Given the description of an element on the screen output the (x, y) to click on. 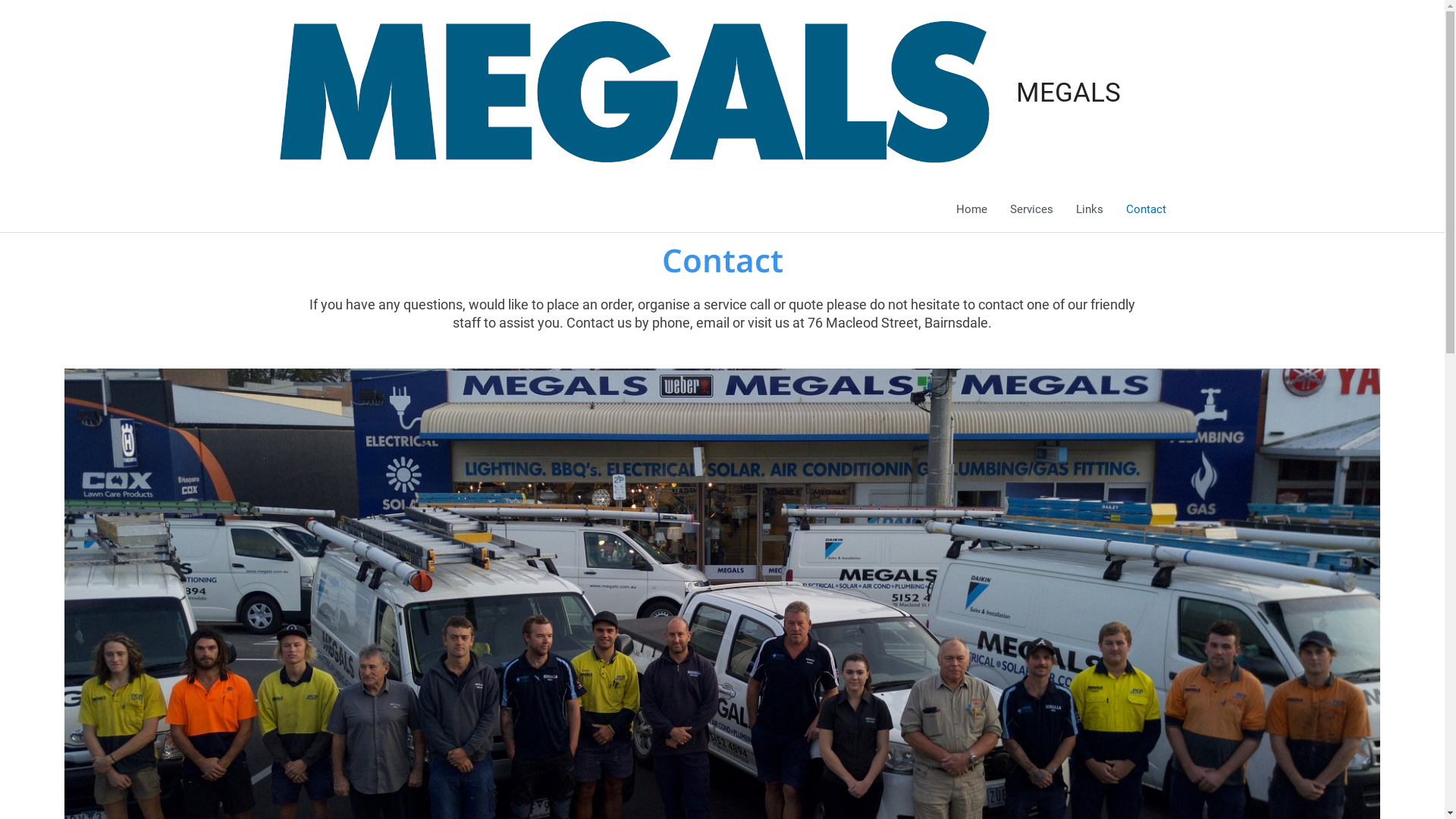
Links Element type: text (1089, 209)
Home Element type: text (971, 209)
Services Element type: text (1030, 209)
MEGALS Element type: text (1068, 92)
Contact Element type: text (1145, 209)
